Given the description of an element on the screen output the (x, y) to click on. 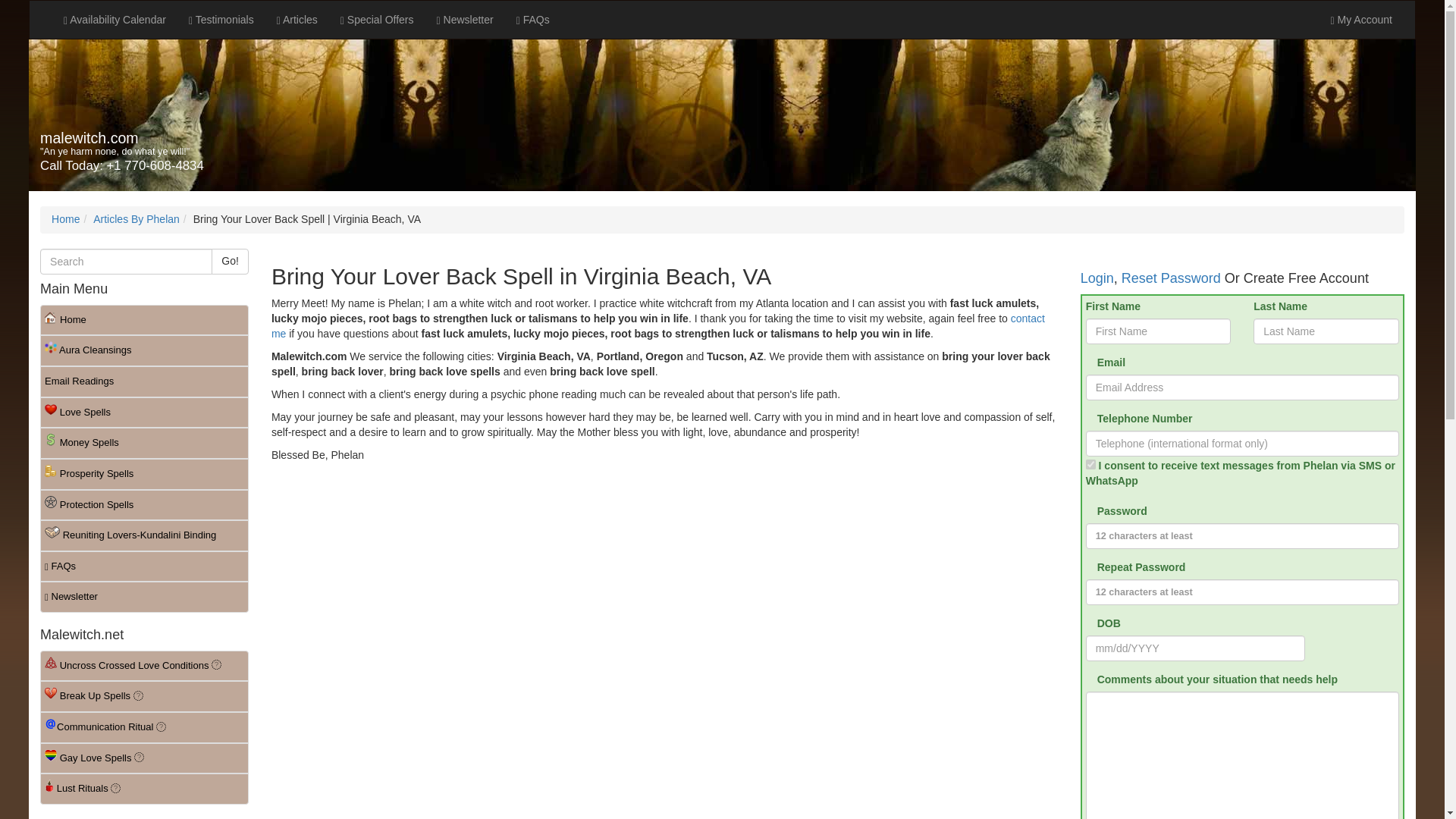
Money Spells (144, 442)
email readings (144, 381)
protection spells (144, 504)
our newsletter (465, 19)
Love Spells (144, 412)
articles by phelan (136, 218)
faqs (532, 19)
client testimonials (220, 19)
Communication Ritual (144, 726)
Lust Rituals (144, 788)
home (144, 319)
Home (65, 218)
Availability Calendar (114, 19)
money spells (144, 442)
Prosperity Spells (144, 473)
